Given the description of an element on the screen output the (x, y) to click on. 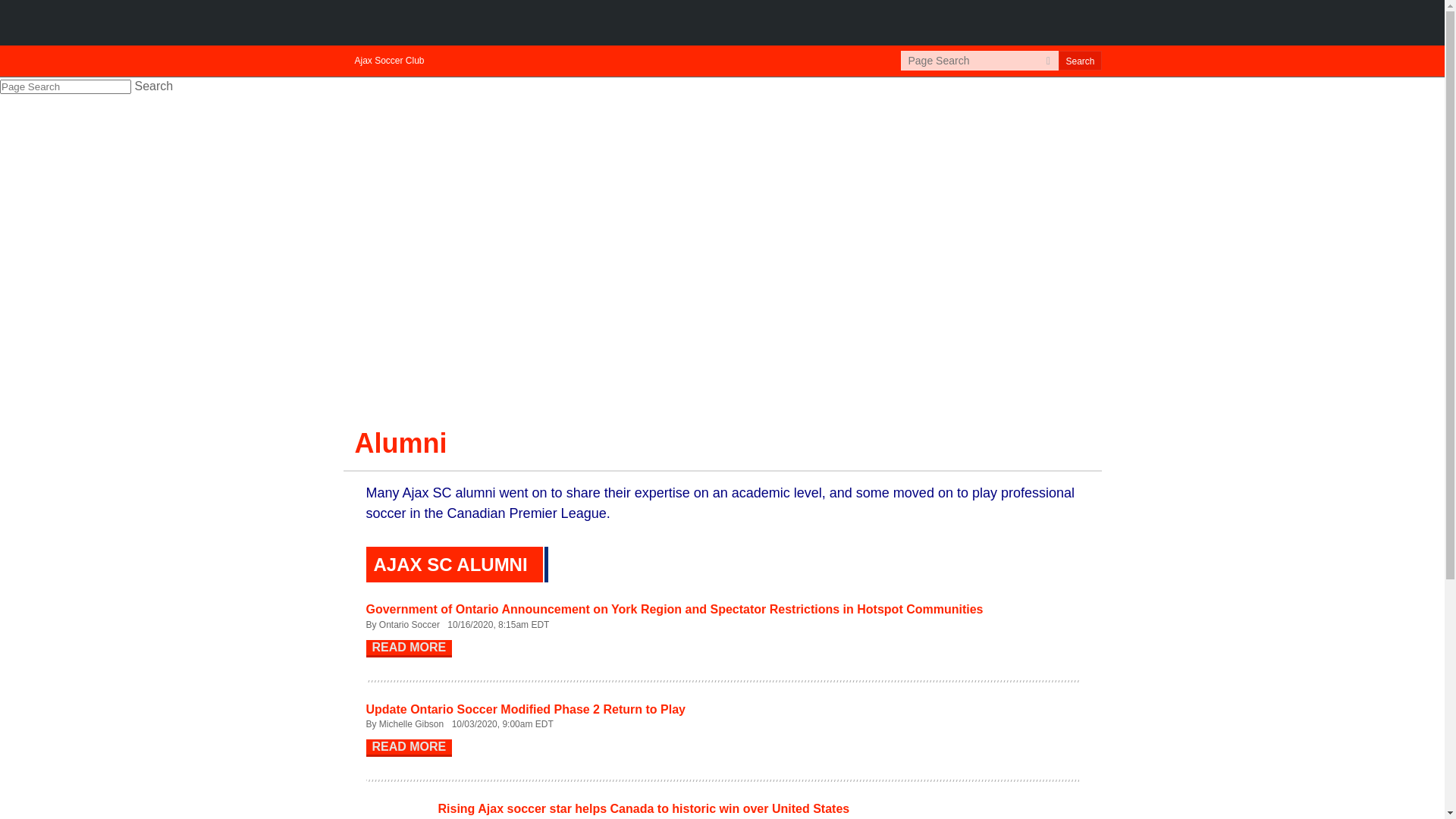
READ MORE Element type: text (408, 747)
READ MORE Element type: text (408, 648)
Update Ontario Soccer Modified Phase 2 Return to Play Element type: text (524, 708)
